Given the description of an element on the screen output the (x, y) to click on. 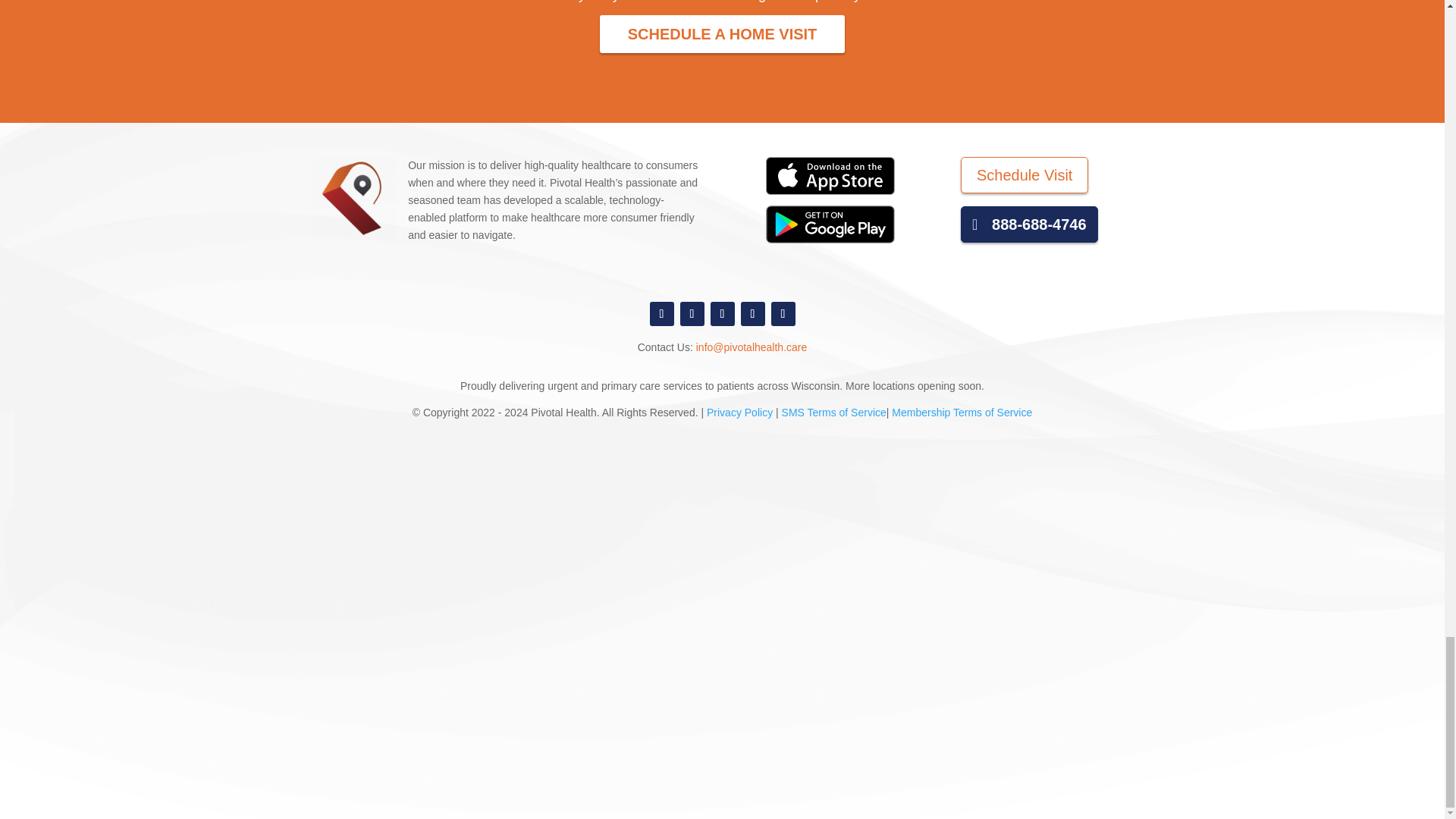
Follow on Instagram (751, 313)
Follow on LinkedIn (721, 313)
Follow on Facebook (660, 313)
Follow on X (691, 313)
Follow on Youtube (782, 313)
